Given the description of an element on the screen output the (x, y) to click on. 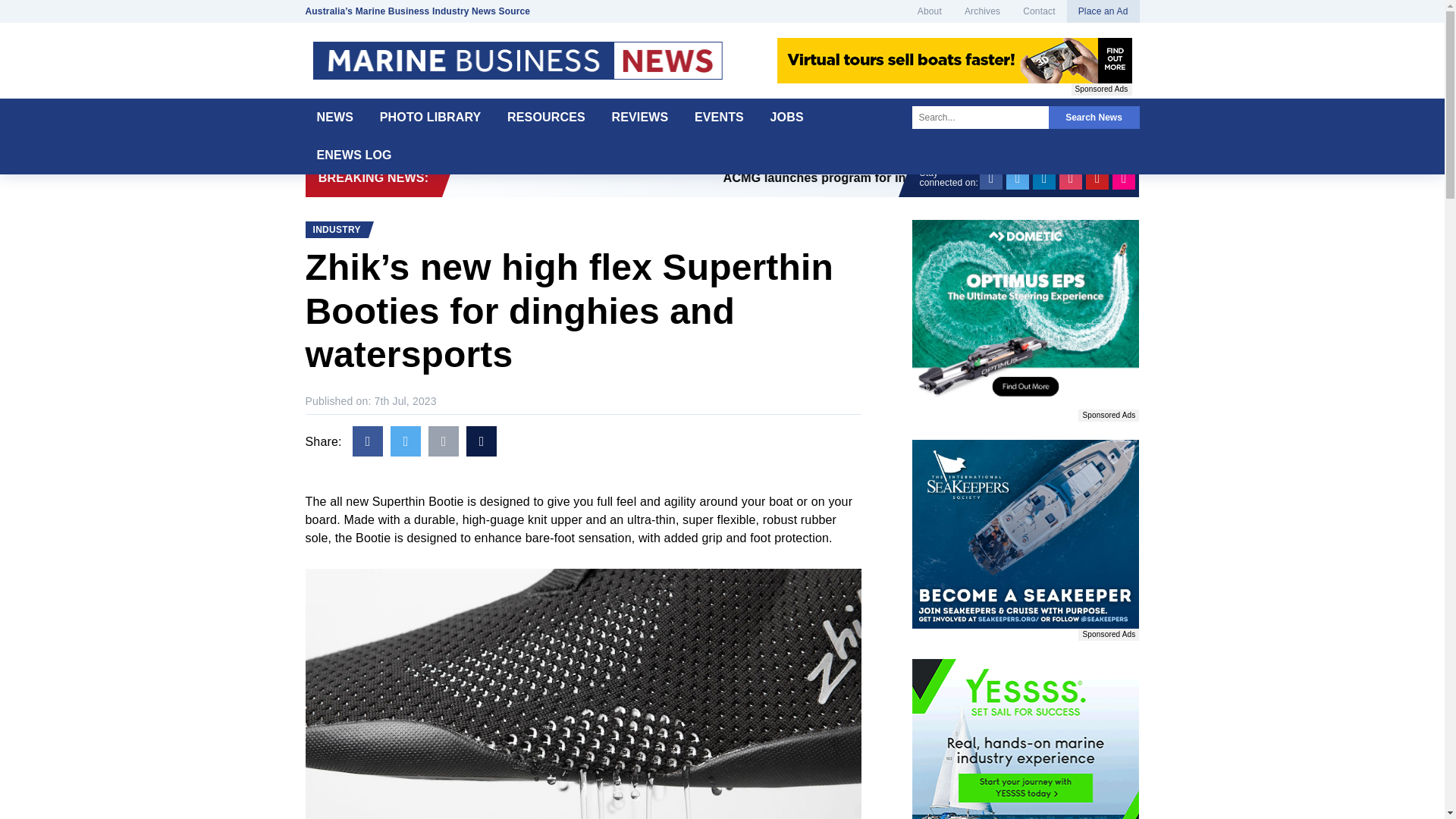
Share on Twitter (405, 440)
RESOURCES (546, 117)
JOBS (786, 117)
REVIEWS (639, 117)
Contact (1038, 11)
Archives (982, 11)
Place an Ad (1103, 11)
NEWS (334, 117)
Share with Email (443, 440)
Share on Facebook (367, 440)
Search News (1093, 117)
ENEWS LOG (353, 155)
EVENTS (718, 117)
Print (480, 440)
